Given the description of an element on the screen output the (x, y) to click on. 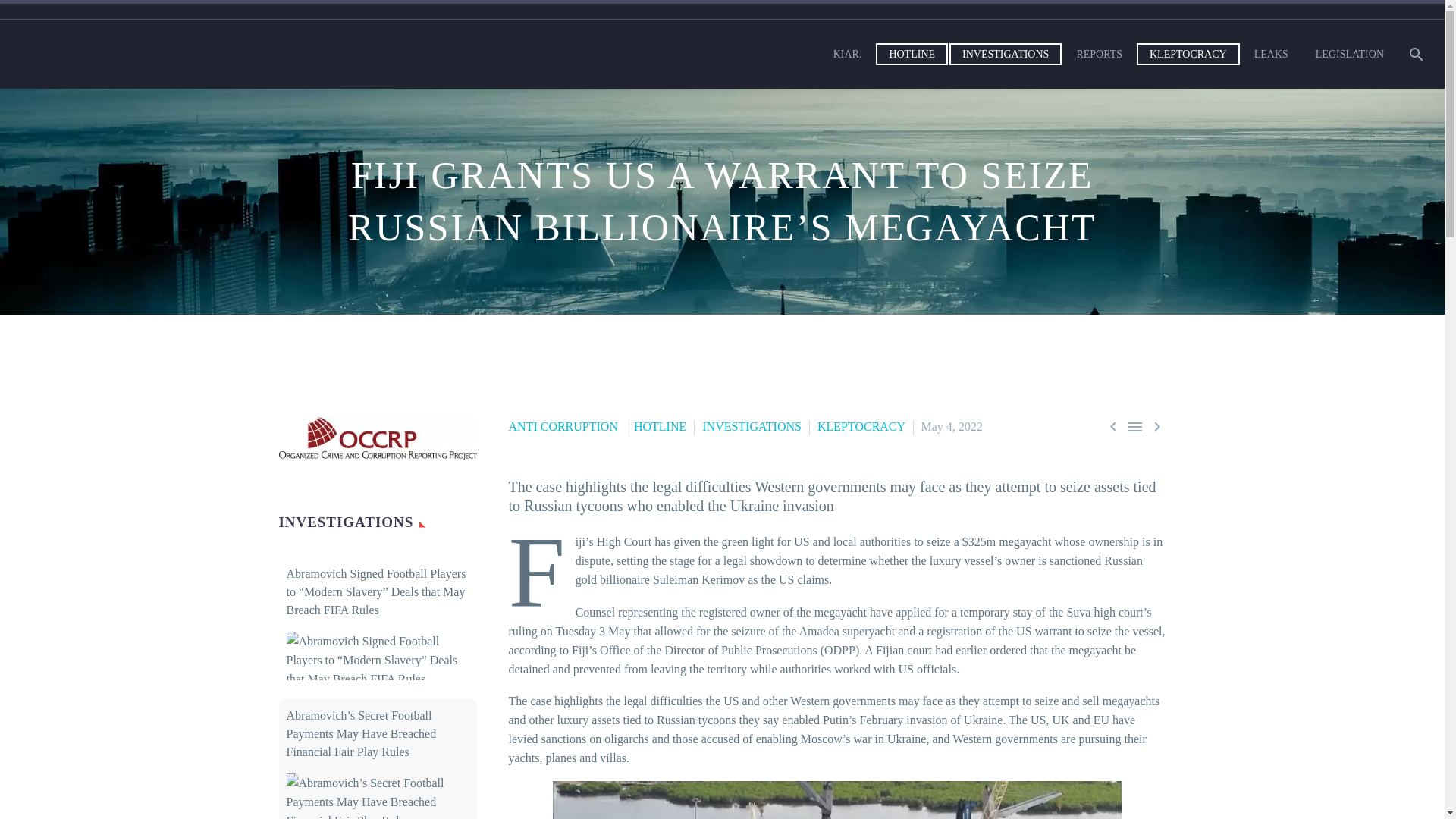
LEGISLATION Element type: text (1349, 53)
KLEPTOCRACY Element type: text (1187, 54)
KLEPTOCRACY Element type: text (861, 426)
HOTLINE Element type: text (911, 54)
INVESTIGATIONS Element type: text (751, 426)
INVESTIGATIONS Element type: text (1005, 54)
LEAKS Element type: text (1270, 53)
ANTI CORRUPTION Element type: text (562, 426)
HOTLINE Element type: text (659, 426)
REPORTS Element type: text (1098, 53)
KIAR. Element type: text (847, 53)
